Given the description of an element on the screen output the (x, y) to click on. 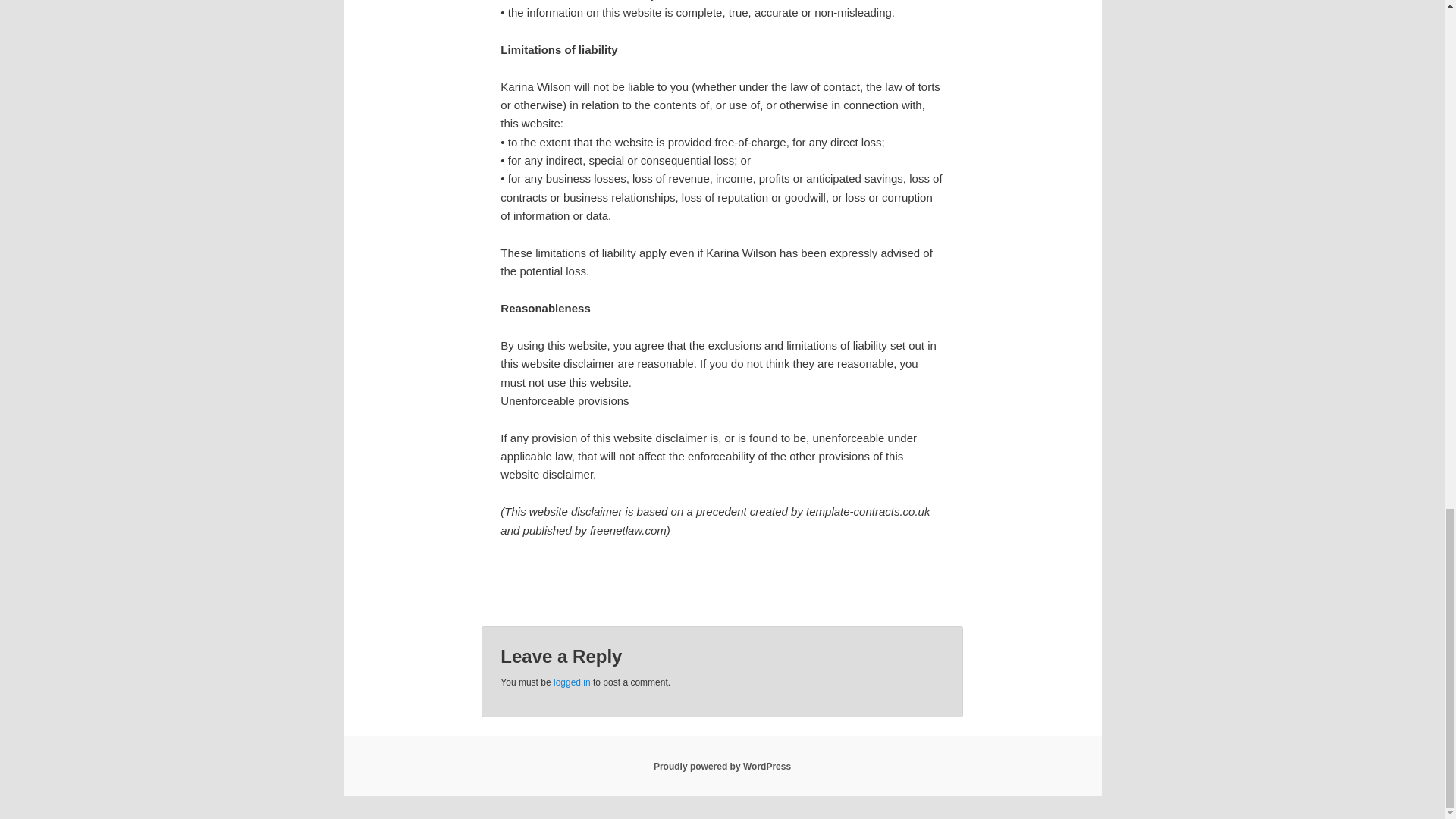
logged in (572, 682)
Semantic Personal Publishing Platform (721, 766)
Proudly powered by WordPress (721, 766)
